Given the description of an element on the screen output the (x, y) to click on. 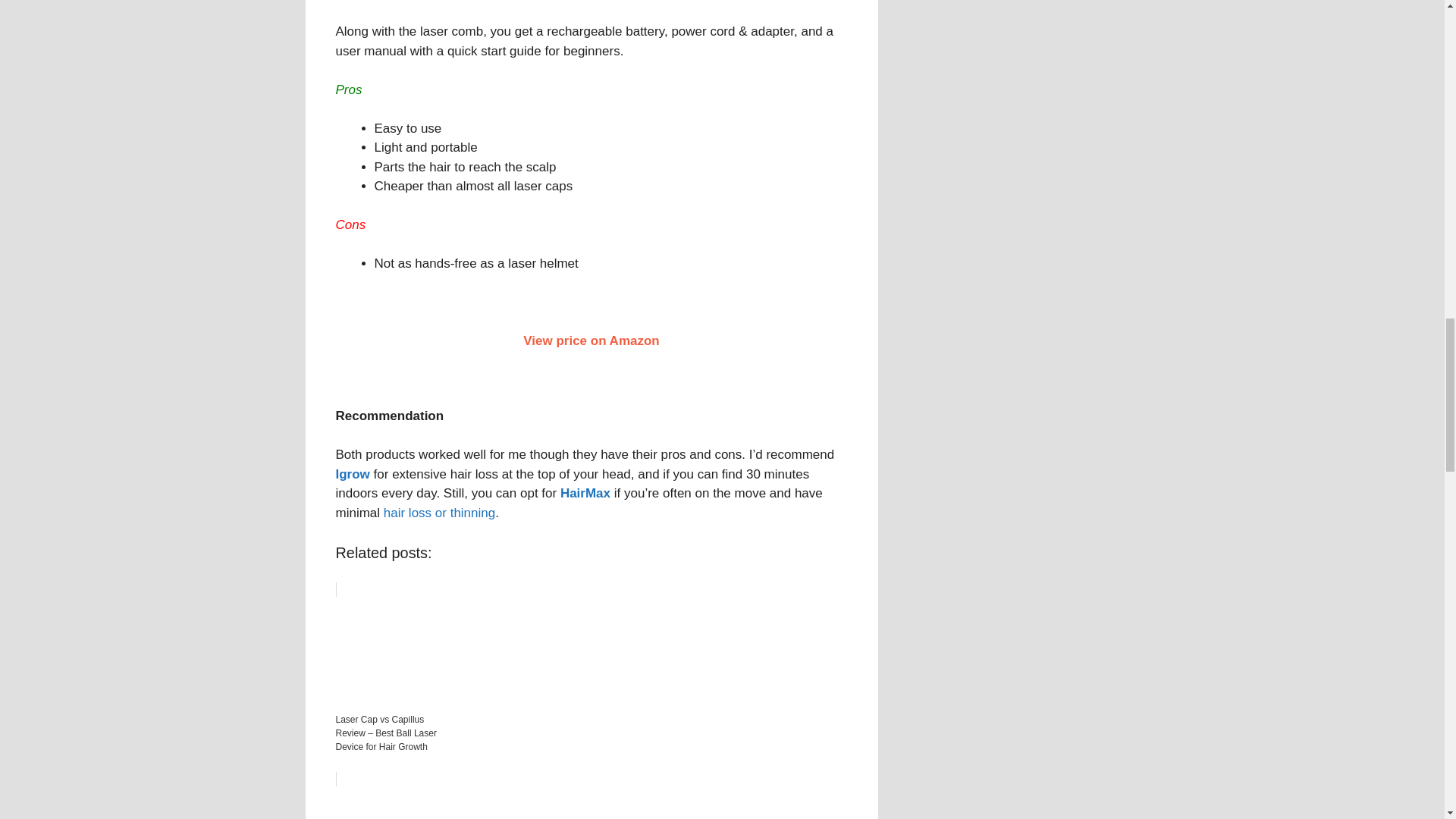
HairMax (585, 493)
Igrow (351, 473)
View price on Amazon (590, 340)
hair loss or thinning (439, 513)
